Given the description of an element on the screen output the (x, y) to click on. 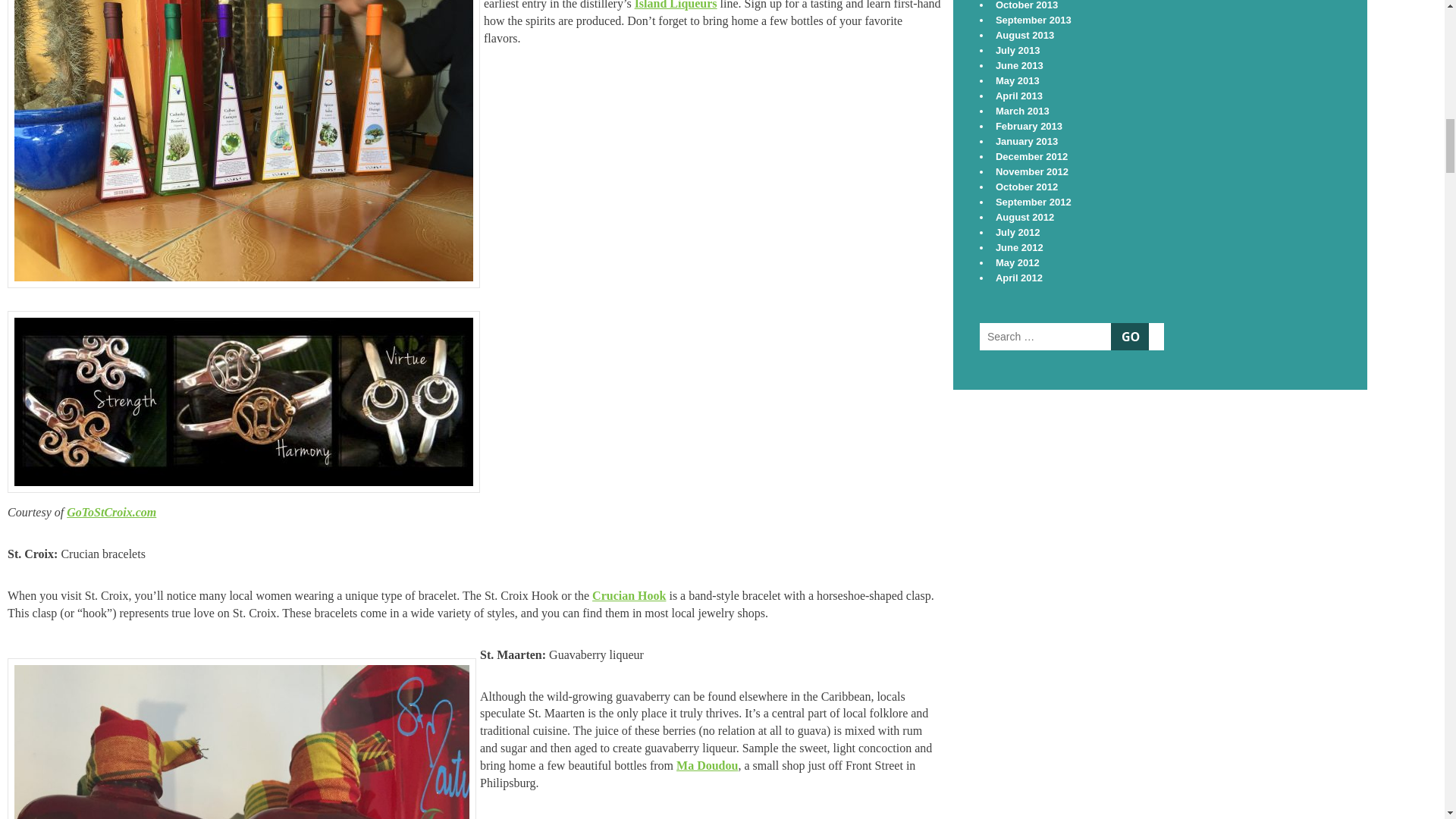
Crucian Hook (628, 594)
Search (1129, 336)
GoToStCroix.com (110, 512)
Island Liqueurs (675, 4)
Ma Doudou (707, 765)
Search (1129, 336)
